Given the description of an element on the screen output the (x, y) to click on. 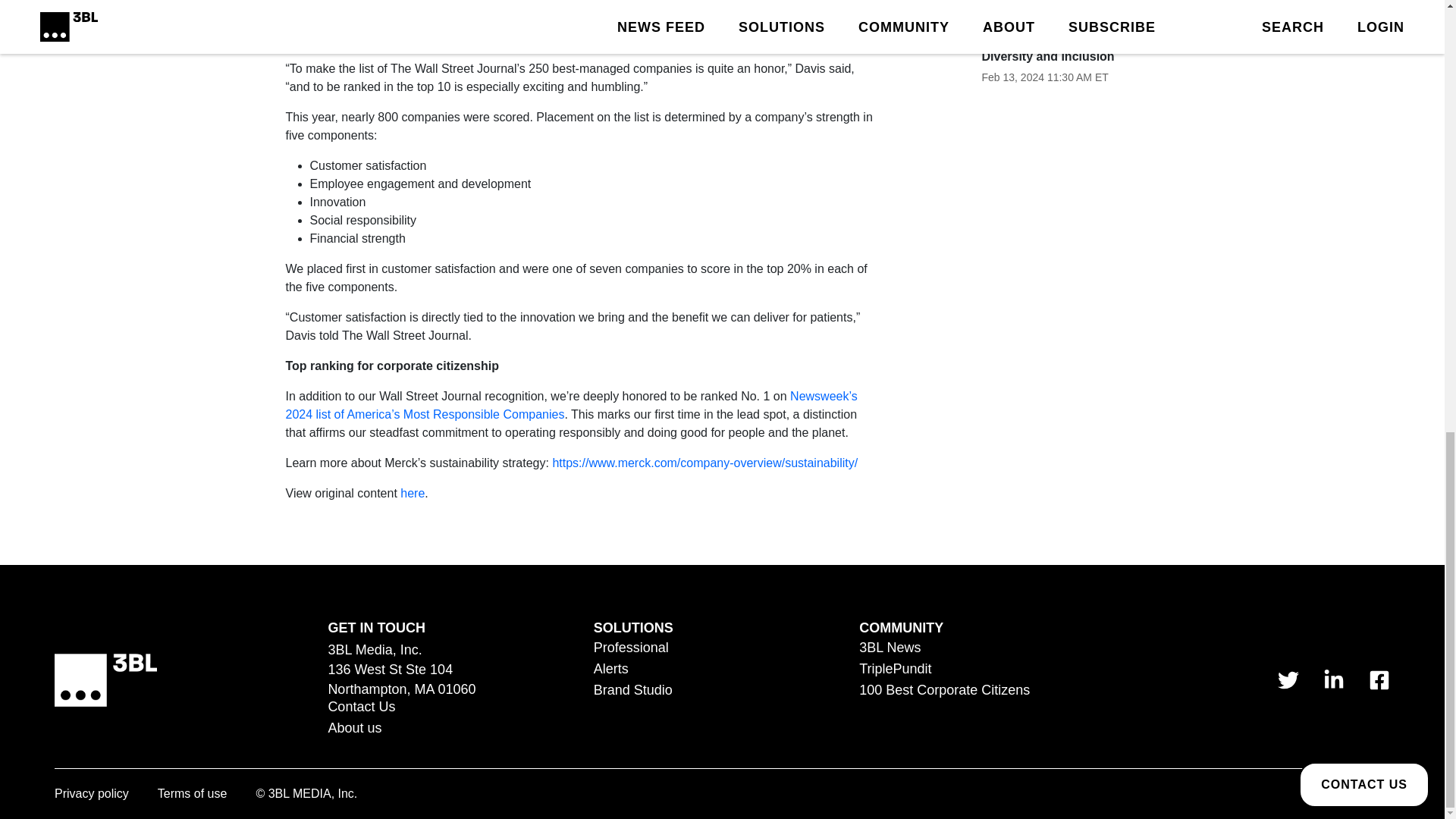
link to 3 B L Media's Linkedin (1333, 680)
link to 3 B L Media's Twitter (1288, 680)
link to 3 B L Media's Facebook (1379, 680)
